Given the description of an element on the screen output the (x, y) to click on. 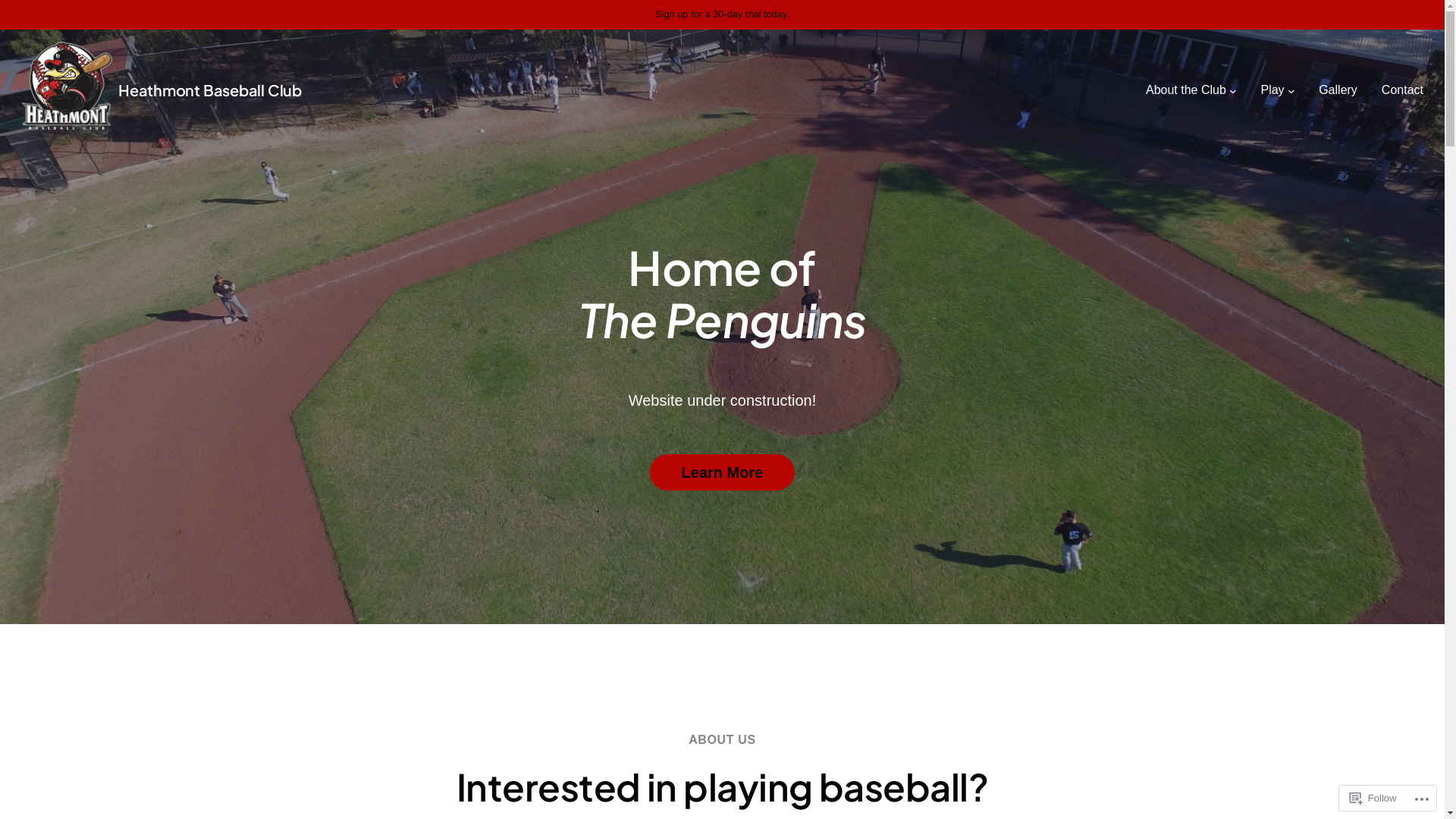
Gallery Element type: text (1337, 90)
About the Club Element type: text (1185, 90)
Play Element type: text (1271, 90)
Contact Element type: text (1402, 90)
Follow Element type: text (1372, 797)
Heathmont Baseball Club Element type: text (209, 89)
Learn More Element type: text (722, 472)
